Given the description of an element on the screen output the (x, y) to click on. 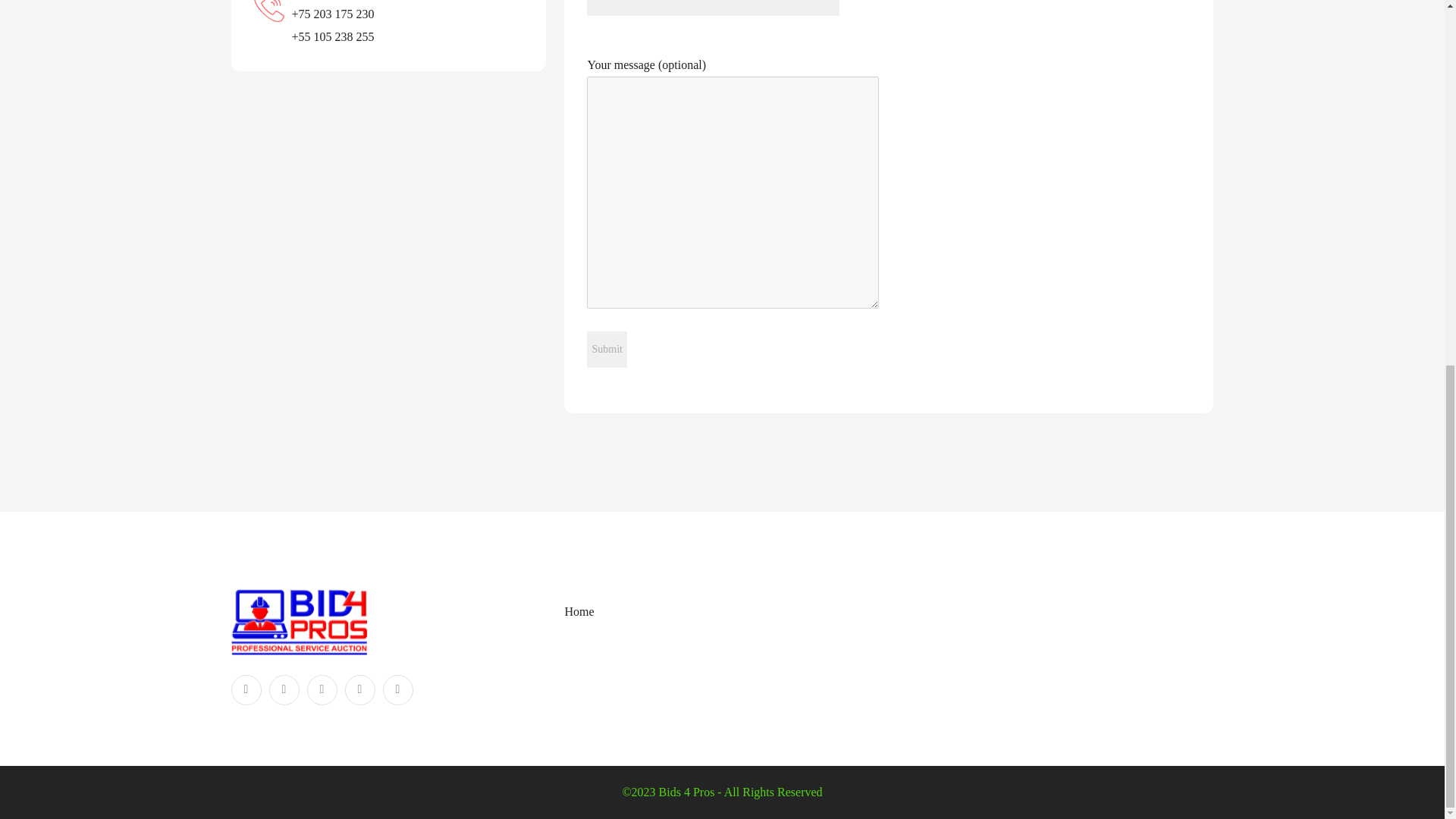
Submit (606, 349)
Submit (606, 349)
Home (579, 611)
